Given the description of an element on the screen output the (x, y) to click on. 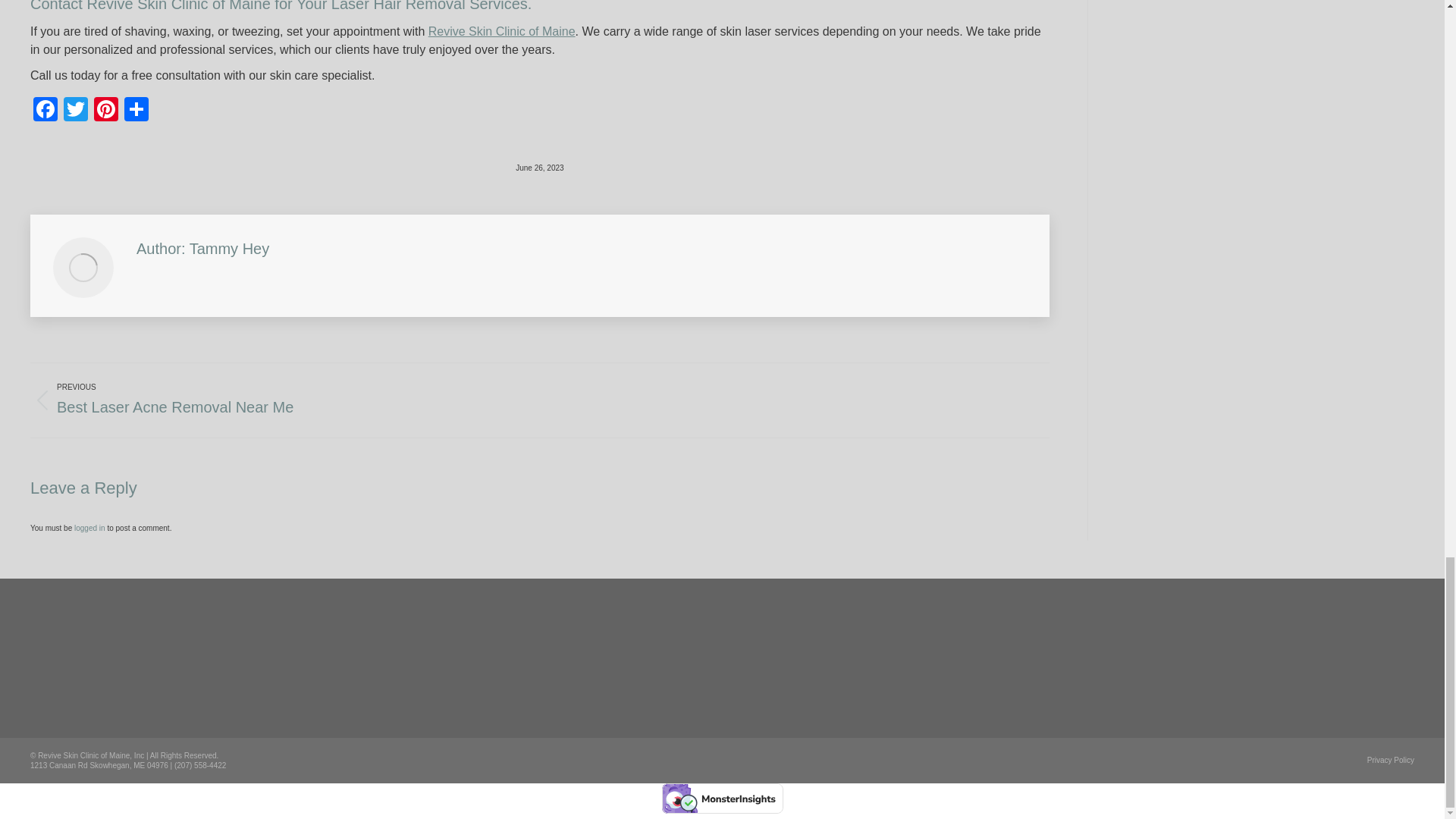
8:31 pm (539, 167)
Pinterest (105, 111)
Twitter (75, 111)
Facebook (45, 111)
